Given the description of an element on the screen output the (x, y) to click on. 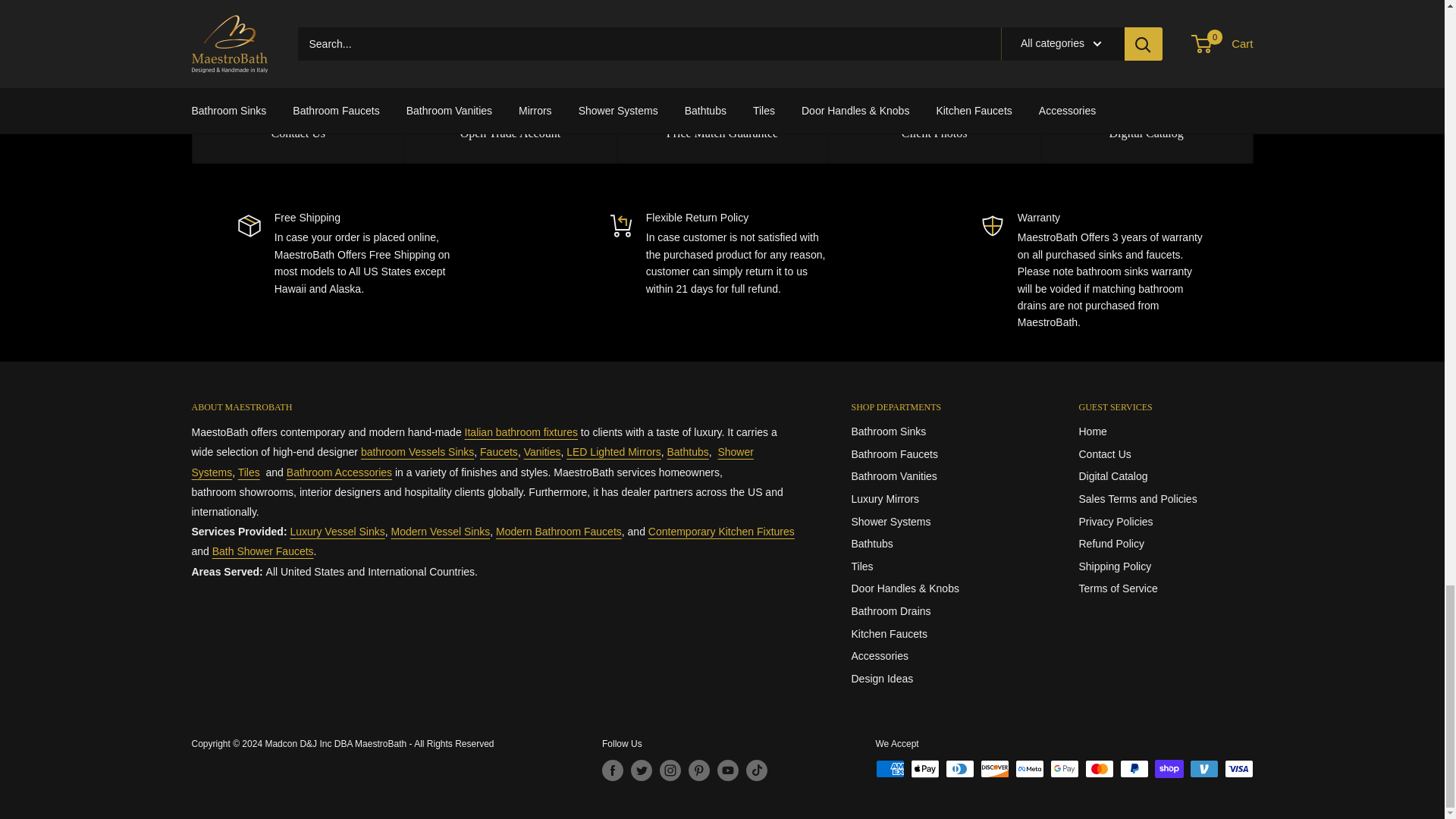
Luxury Mirrors (613, 451)
Bathroom Faucets (499, 451)
Bathtubs (687, 451)
Bathroom Vanities (542, 451)
Vessel Sinks (417, 451)
Accessories and Hardware (338, 472)
All Bathroom Faucets (558, 531)
Kitchen Faucets (720, 531)
Shower Systems (471, 461)
Luxury Vessel Sinks (336, 531)
Shower Systems (263, 551)
Vessel Sinks (440, 531)
Tiles (249, 472)
